Given the description of an element on the screen output the (x, y) to click on. 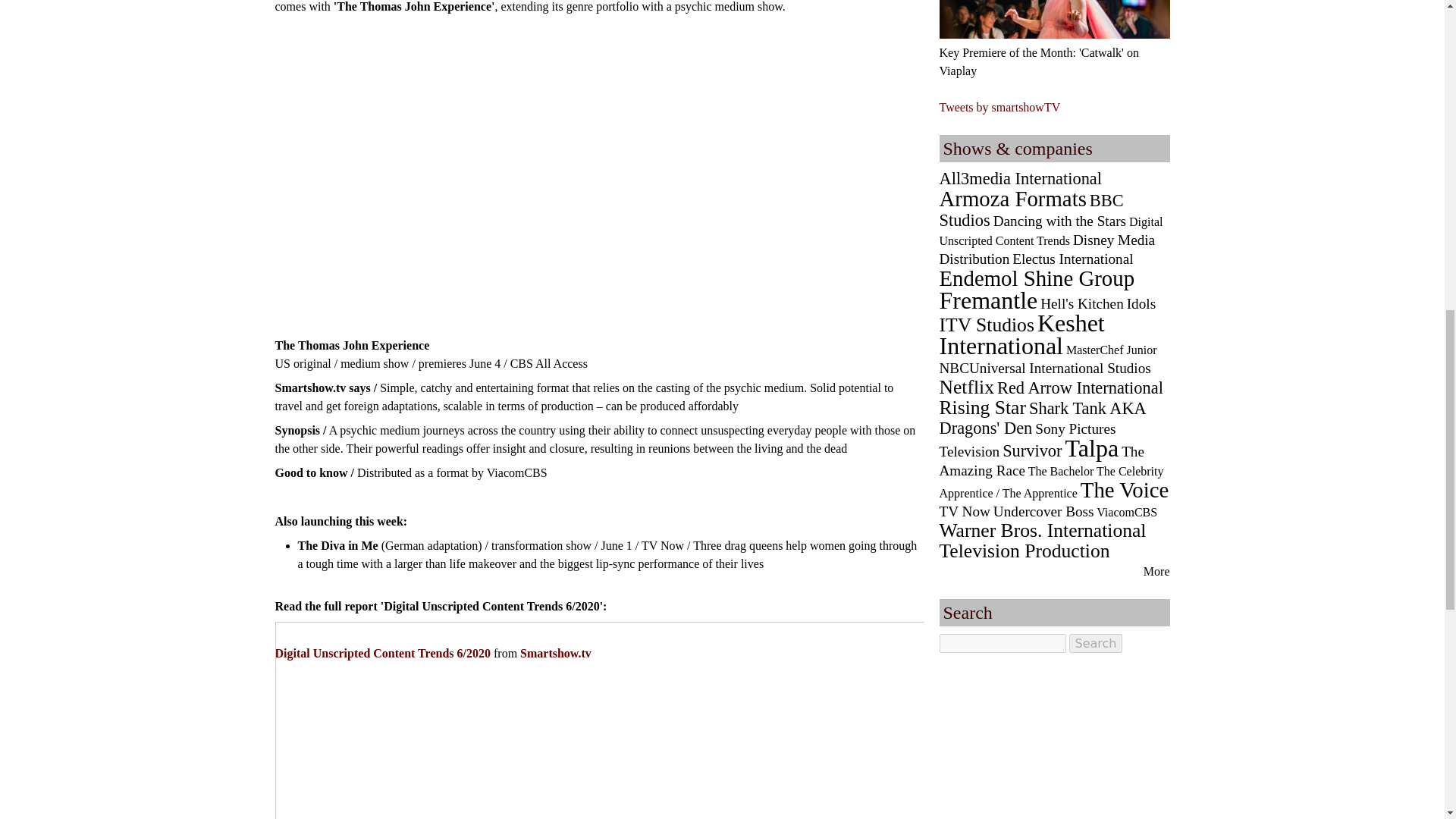
BBC Studios (1030, 210)
Dancing with the Stars (1058, 220)
All3media International (1020, 178)
Disney Media Distribution (1046, 248)
Search (1095, 642)
Key Premiere of the Month: 'Catwalk' on Viaplay (1038, 60)
Electus International (1071, 258)
Armoza Formats (1012, 198)
